Given the description of an element on the screen output the (x, y) to click on. 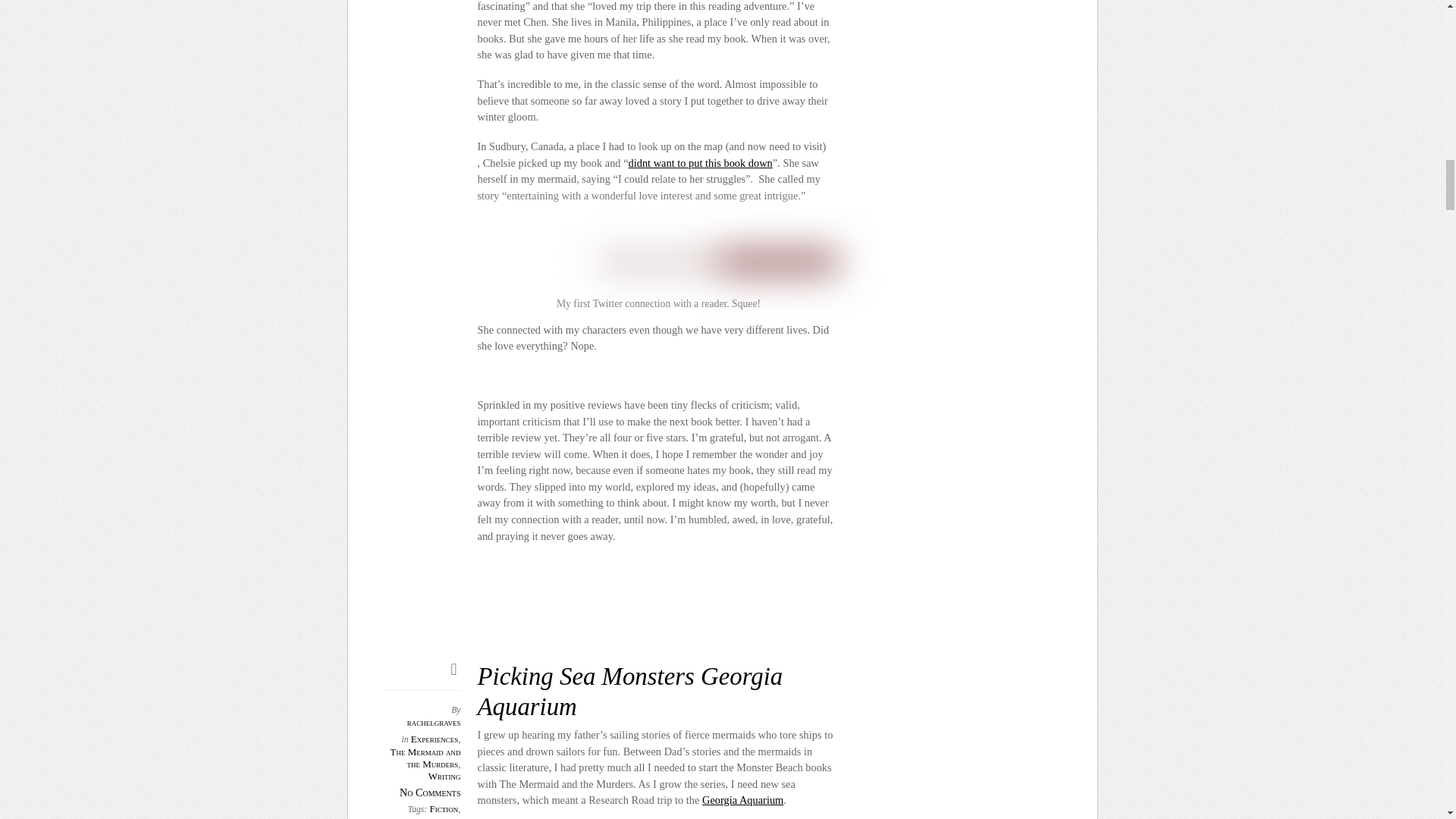
Experiences (434, 738)
Picking Sea Monsters Georgia Aquarium (630, 690)
rachelgraves (434, 722)
didnt want to put this book down (700, 162)
